Given the description of an element on the screen output the (x, y) to click on. 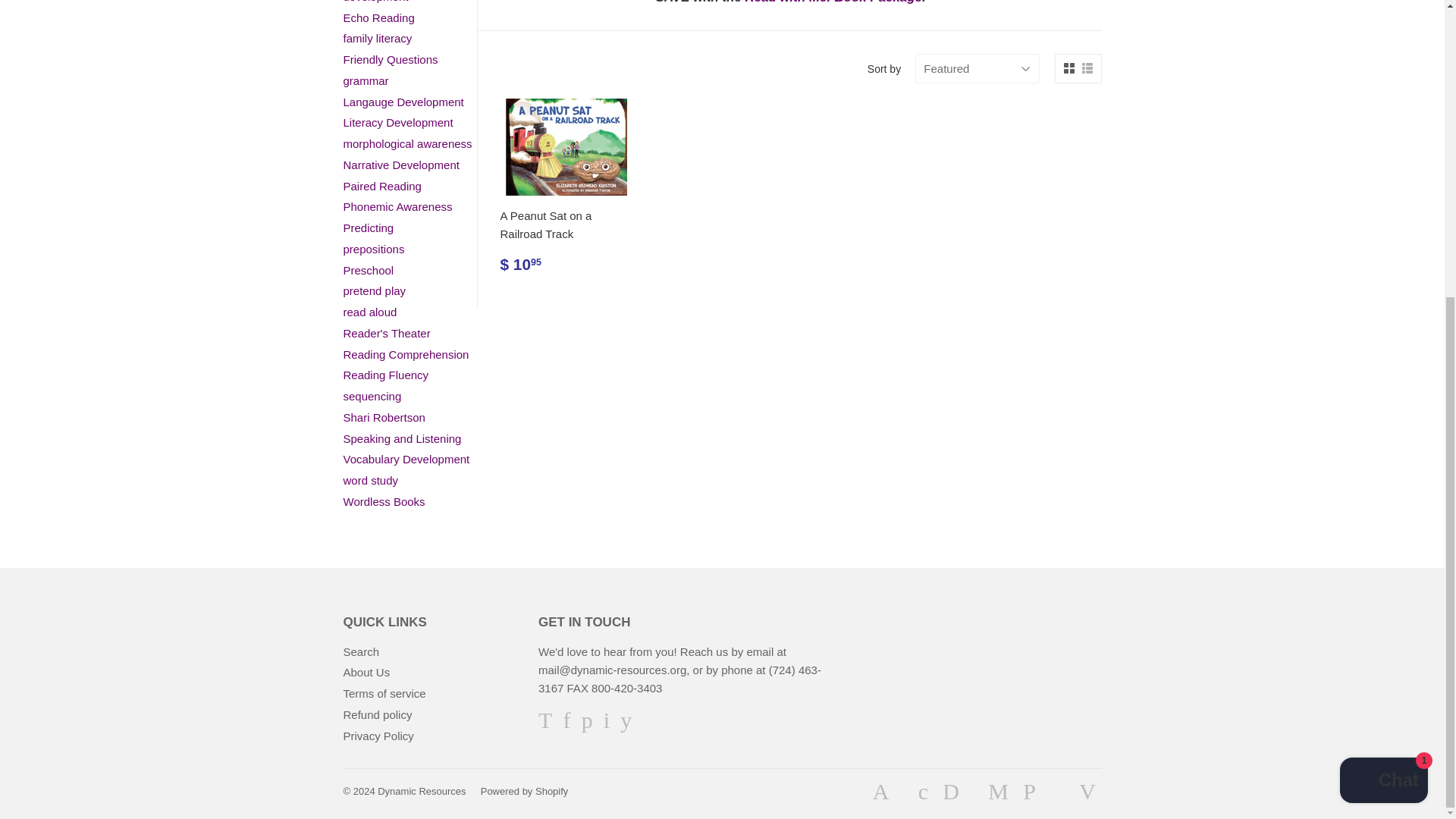
Show products matching tag Literacy Development (397, 122)
Show products matching tag grammar (365, 80)
Show products matching tag Paired Reading (381, 185)
Show products matching tag morphological awareness (406, 143)
Show products matching tag Narrative Development (400, 164)
Show products matching tag early language development (379, 1)
Show products matching tag Friendly Questions (390, 59)
Show products matching tag family literacy (377, 38)
Show products matching tag Phonemic Awareness (396, 205)
Show products matching tag Langauge Development (402, 101)
Show products matching tag Predicting (367, 227)
Show products matching tag Echo Reading (377, 17)
